Given the description of an element on the screen output the (x, y) to click on. 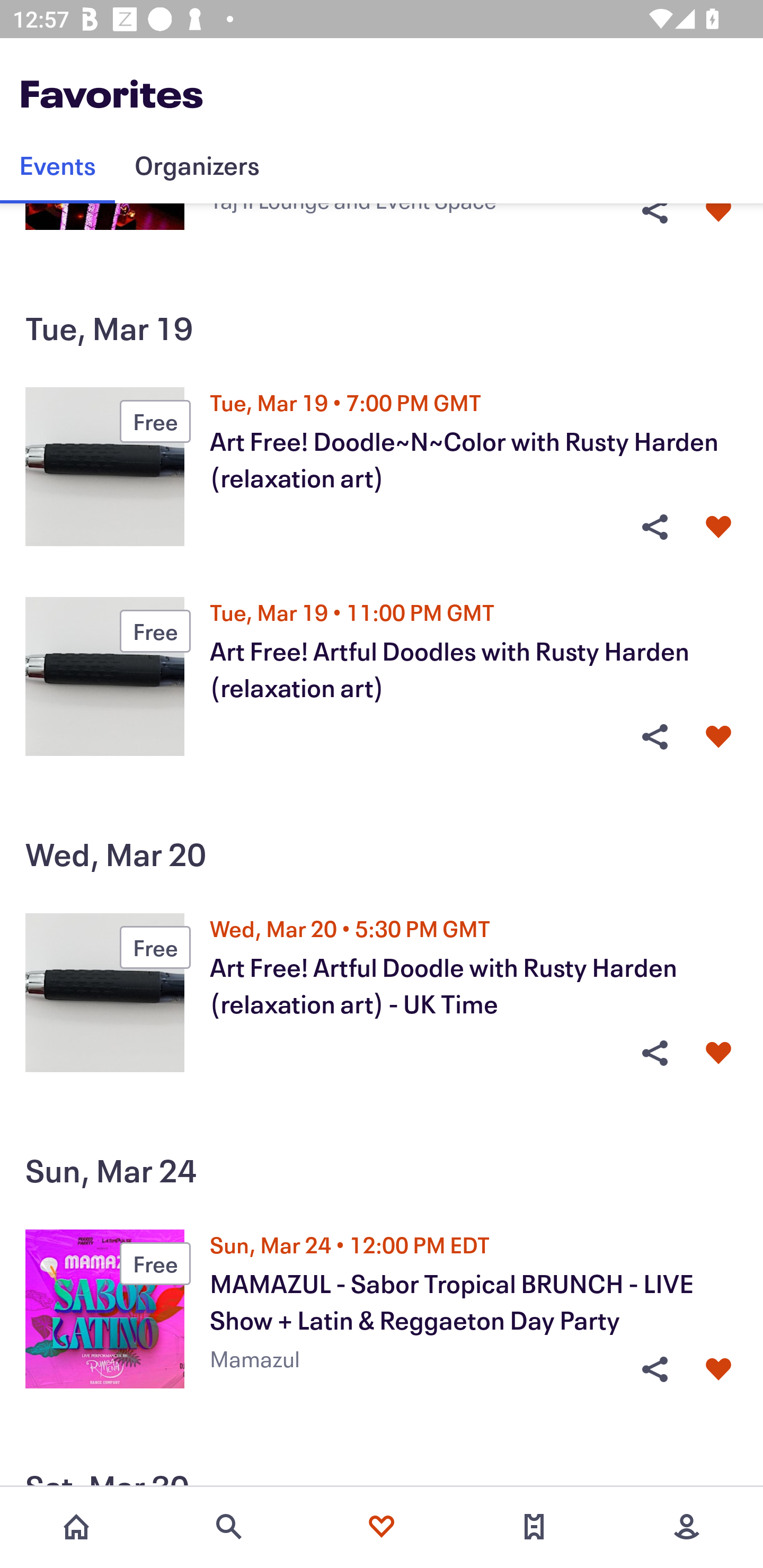
Organizers (196, 165)
Share Event (654, 526)
Unlike event (718, 526)
Share Event (654, 736)
Unlike event (718, 736)
Share Event (654, 1052)
Unlike event (718, 1052)
Share Event (654, 1368)
Unlike event (718, 1368)
Home (76, 1526)
Search events (228, 1526)
Favorites (381, 1526)
Tickets (533, 1526)
More (686, 1526)
